Given the description of an element on the screen output the (x, y) to click on. 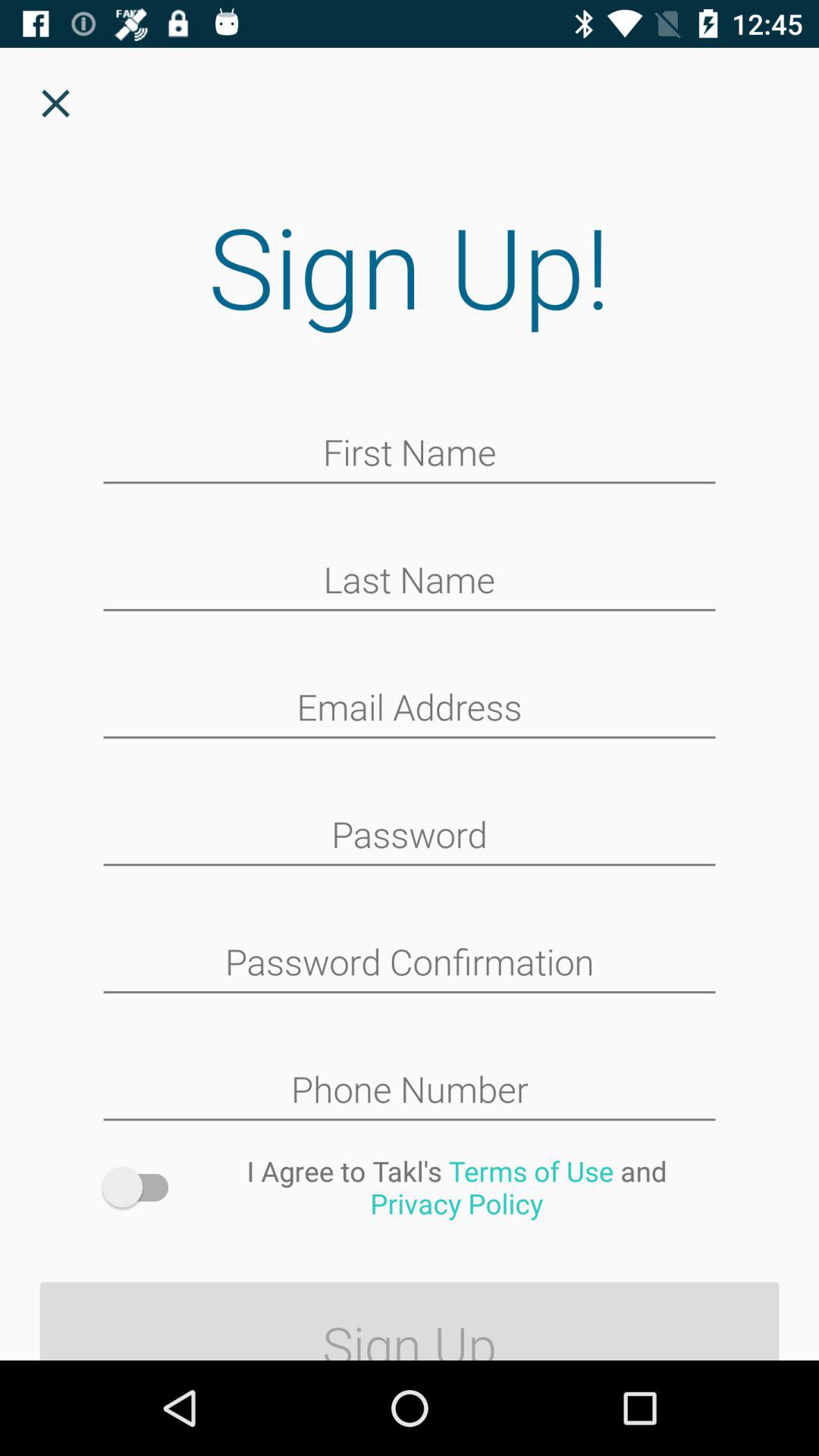
this box lastname (409, 581)
